Given the description of an element on the screen output the (x, y) to click on. 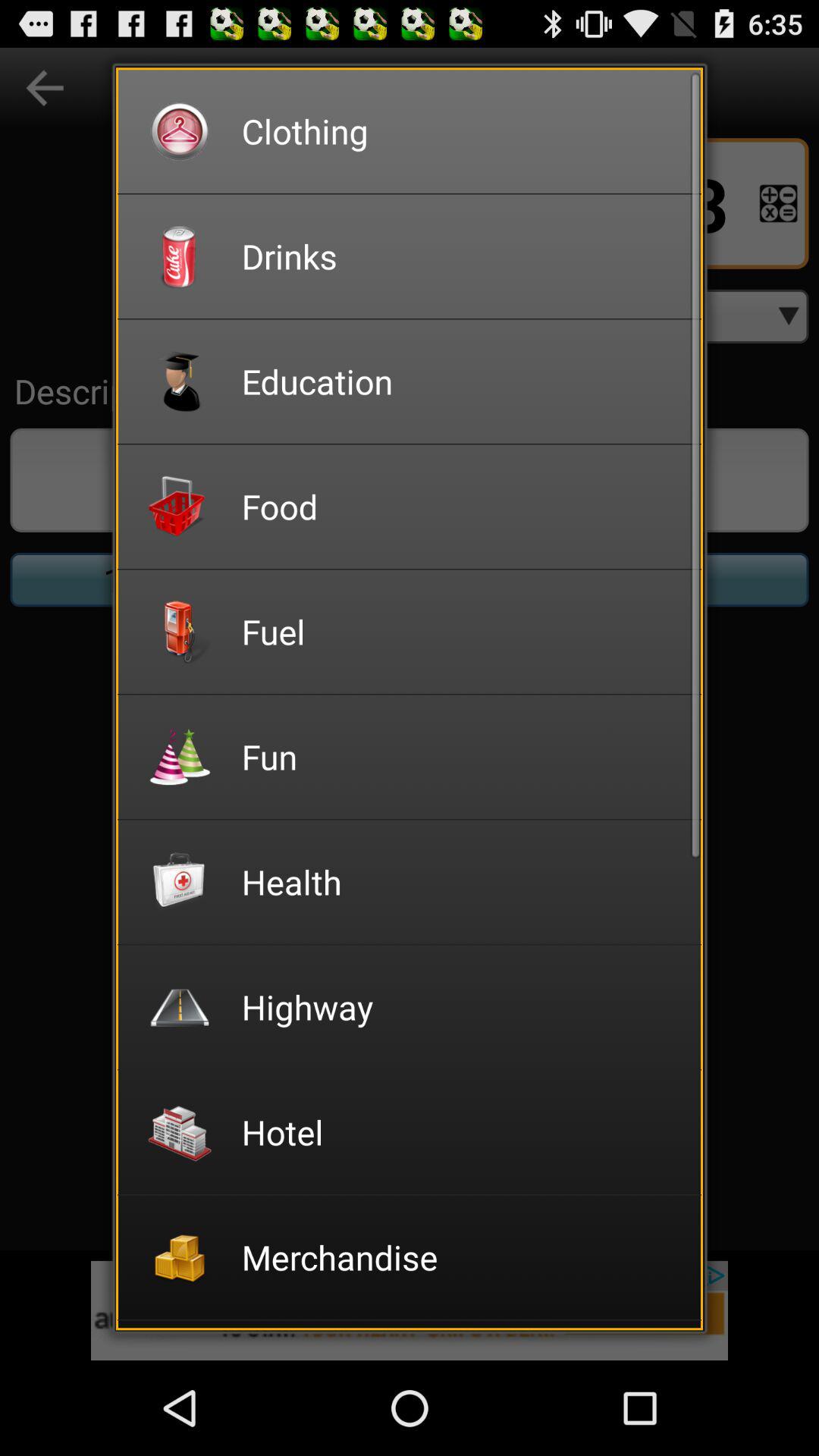
launch the item above education app (461, 256)
